Given the description of an element on the screen output the (x, y) to click on. 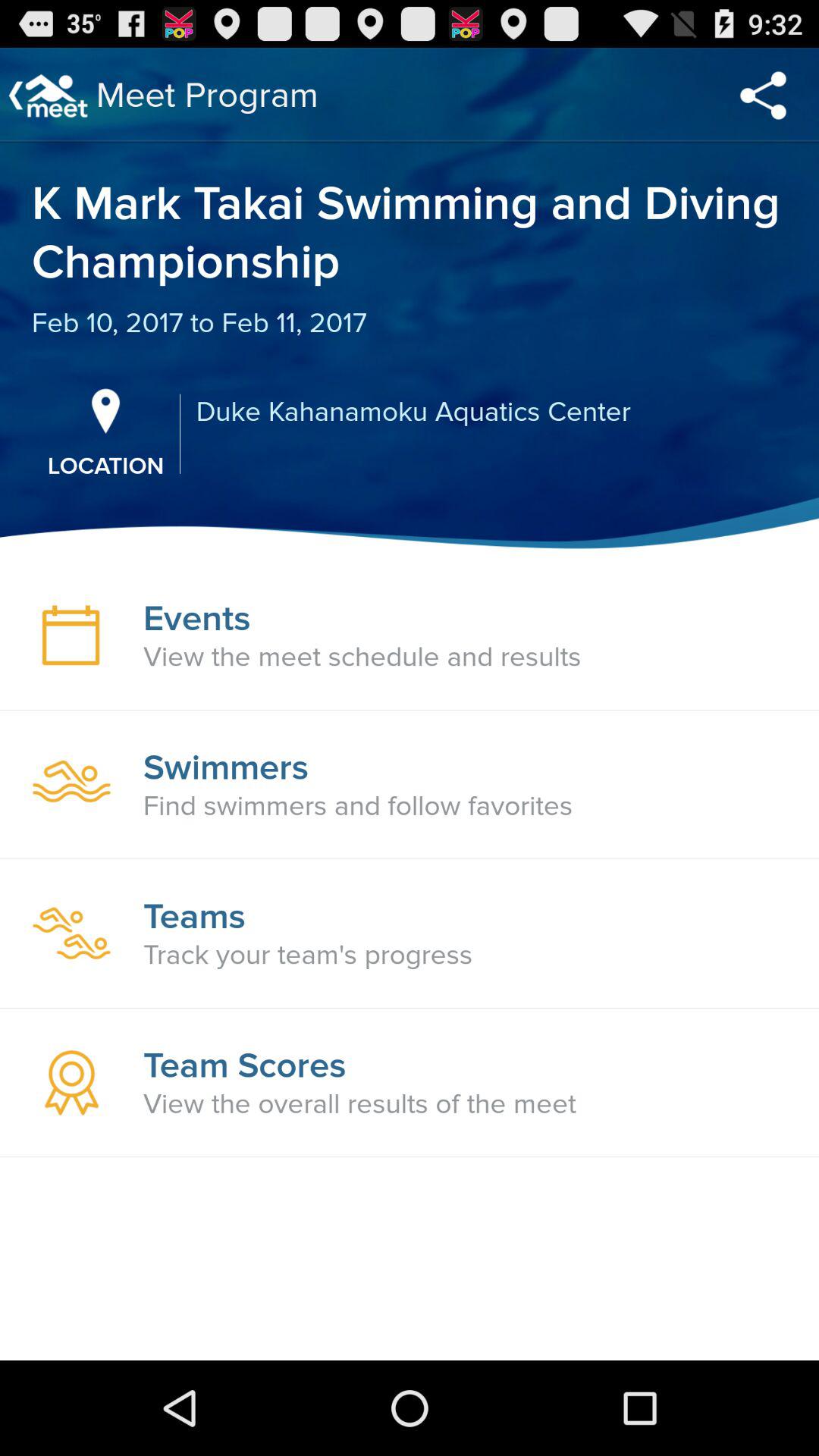
open the team scores item (244, 1065)
